Given the description of an element on the screen output the (x, y) to click on. 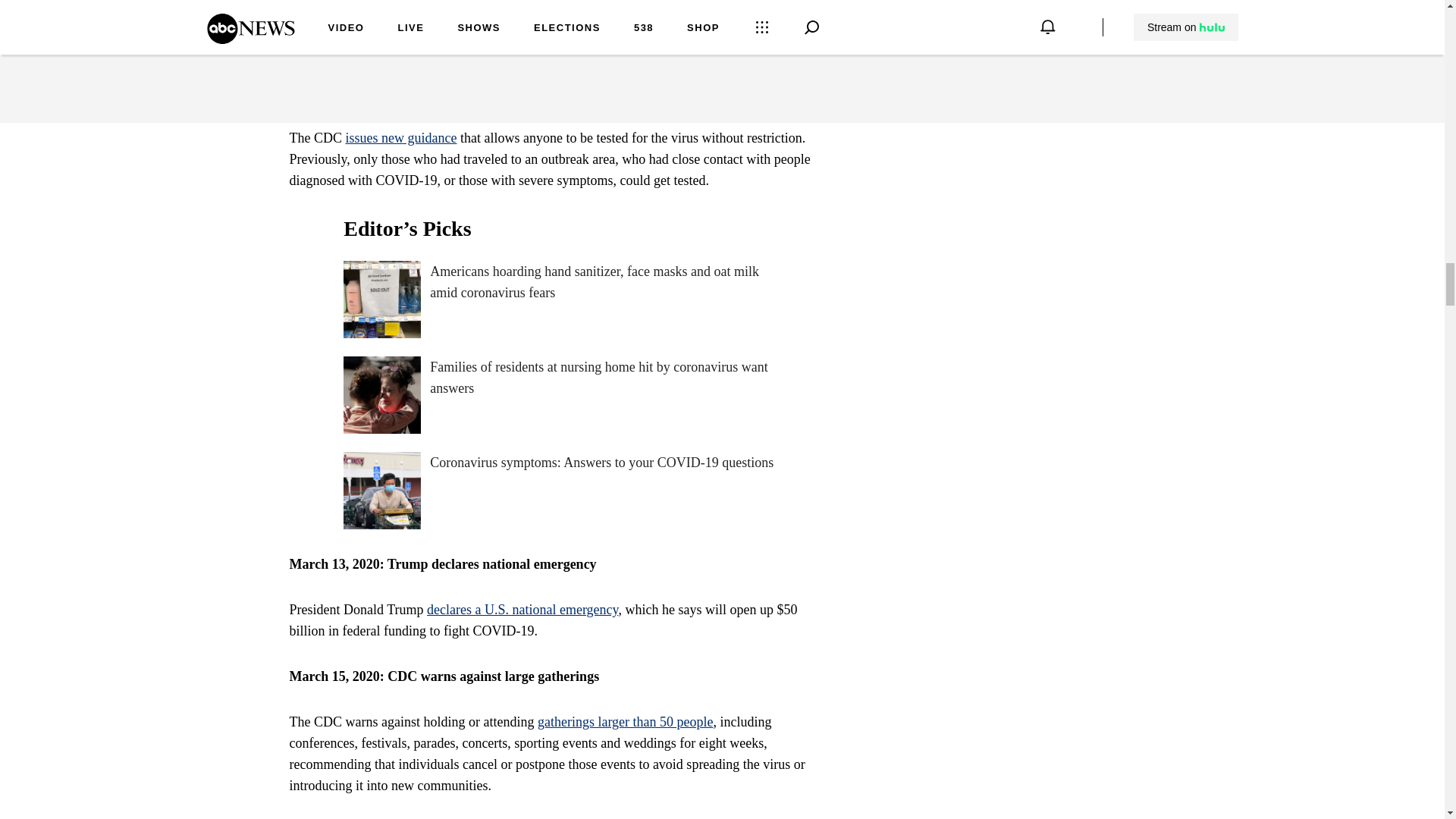
Show more (801, 35)
issues new guidance (401, 137)
Coronavirus symptoms: Answers to your COVID-19 questions (560, 490)
